Given the description of an element on the screen output the (x, y) to click on. 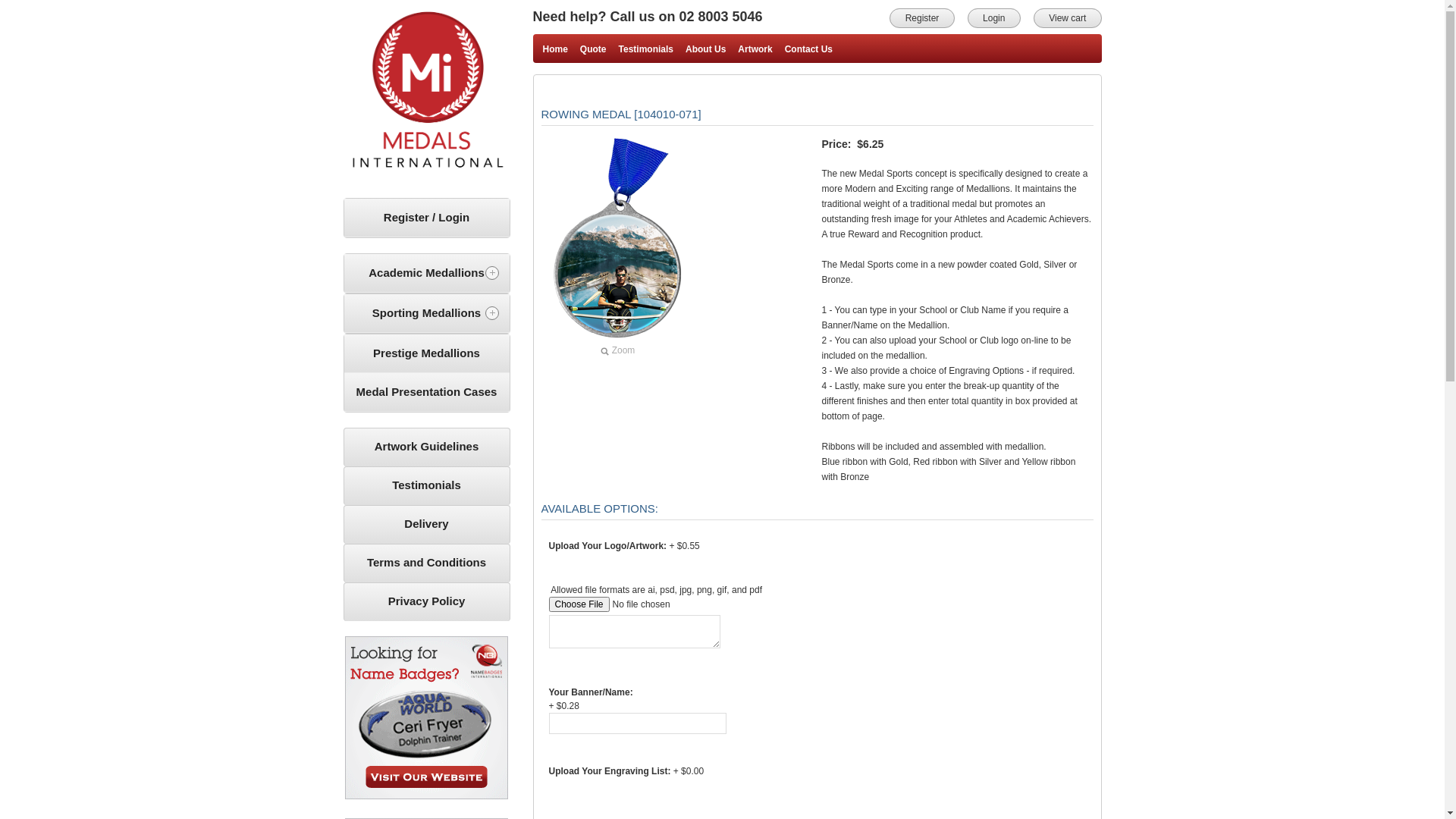
  Element type: text (426, 94)
Canon EOS 5D Element type: hover (617, 240)
Testimonials Element type: text (426, 485)
Register / Login Element type: text (426, 217)
View cart Element type: text (1067, 18)
Privacy Policy Element type: text (426, 601)
Artwork Element type: text (754, 49)
Prestige Medallions Element type: text (426, 353)
Medal Presentation Cases Element type: text (426, 392)
Delivery Element type: text (426, 523)
Sporting Medallions Element type: text (426, 313)
Contact Us Element type: text (808, 49)
Login Element type: text (993, 18)
Academic Medallions Element type: text (426, 273)
Terms and Conditions Element type: text (426, 562)
banner Element type: hover (426, 717)
Artwork Guidelines Element type: text (426, 446)
Testimonials Element type: text (645, 49)
Zoom Element type: text (617, 247)
Home Element type: text (555, 49)
Register Element type: text (921, 18)
About Us Element type: text (705, 49)
Quote Element type: text (593, 49)
